Given the description of an element on the screen output the (x, y) to click on. 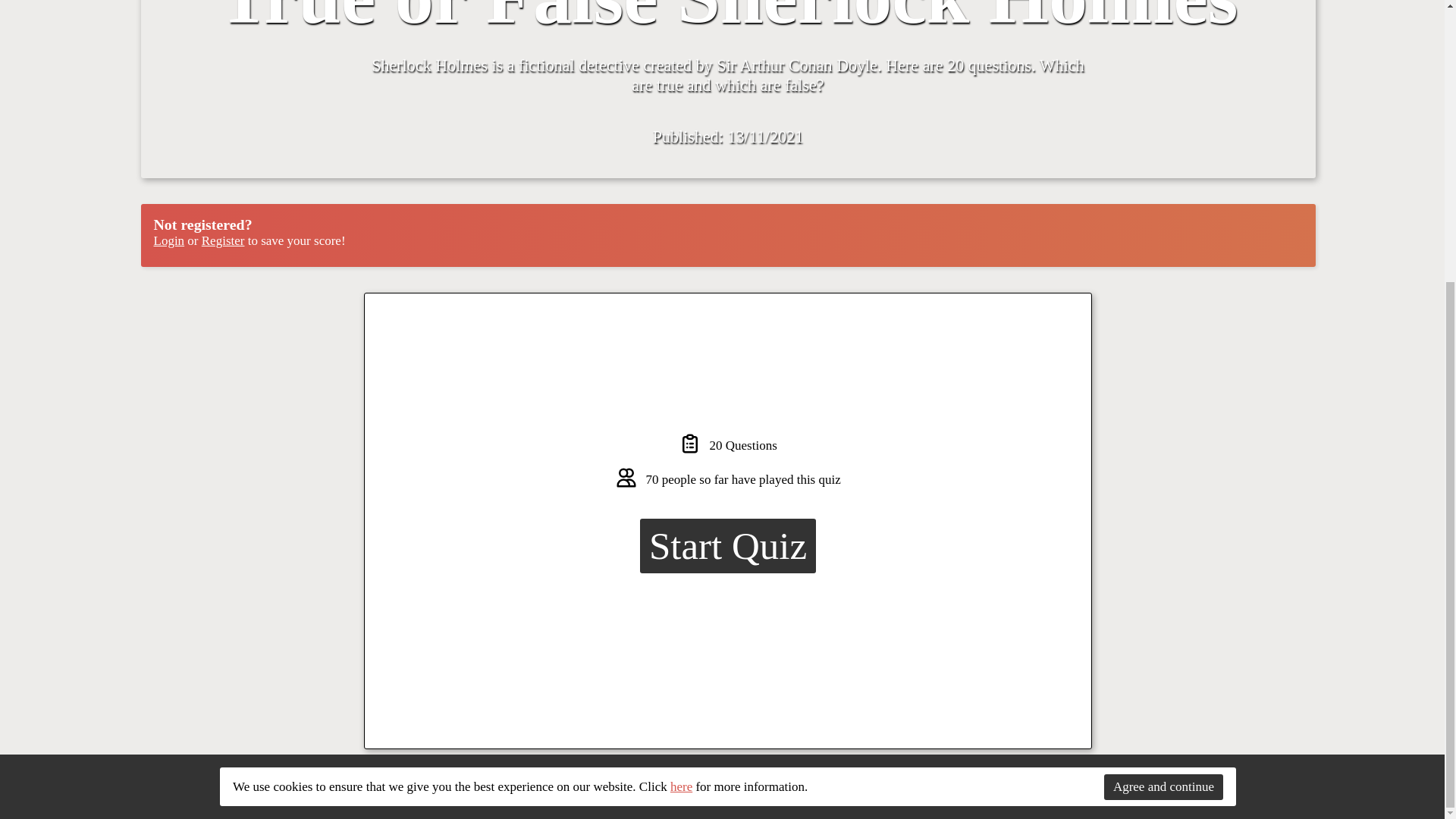
Register (223, 240)
Start Quiz (727, 545)
Privacy Notice (1281, 799)
Login (168, 240)
here (681, 364)
Agree and continue (1163, 363)
About (1224, 799)
